Given the description of an element on the screen output the (x, y) to click on. 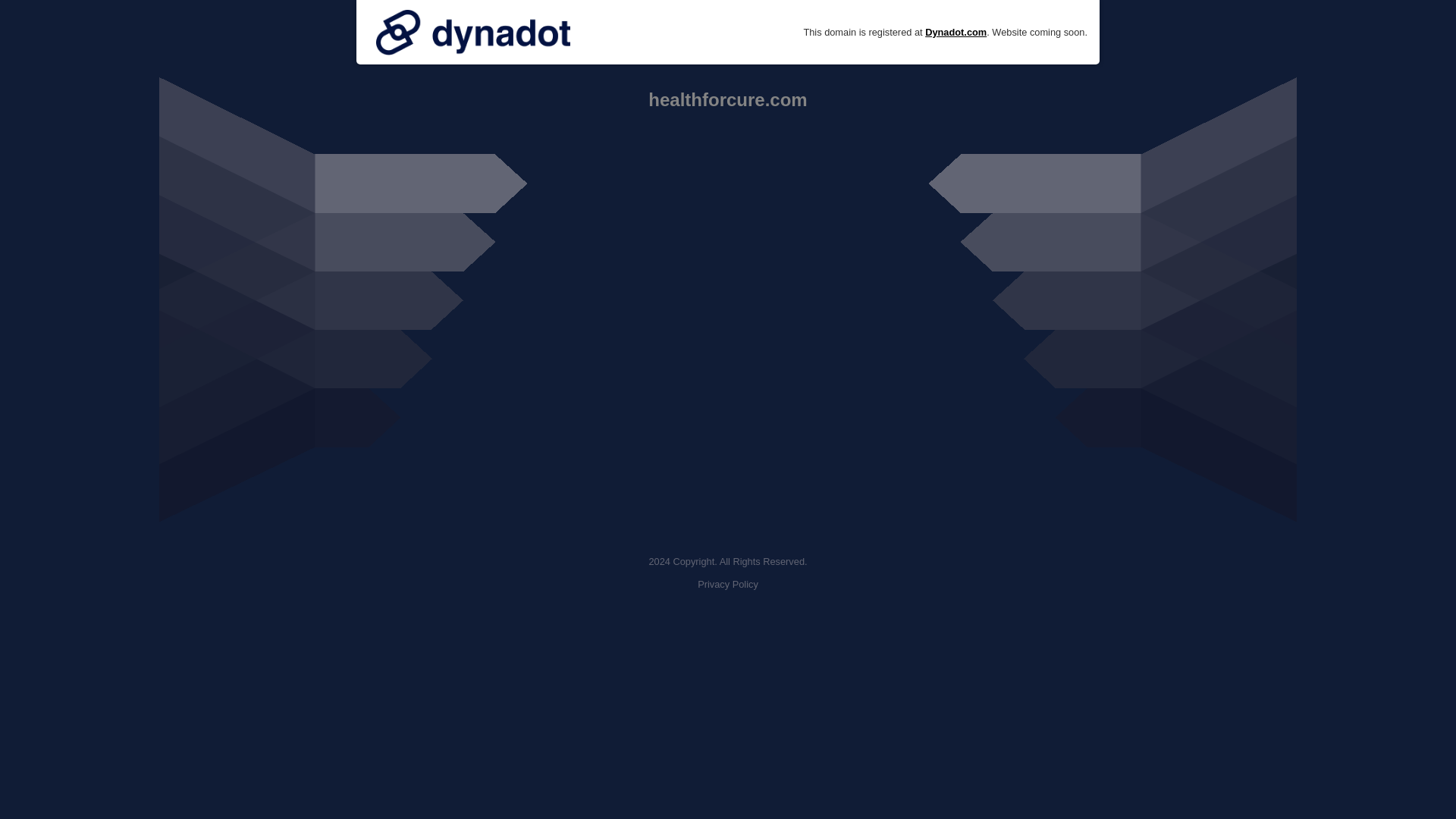
Dynadot.com (955, 31)
Domain managed at Dynadot.com (473, 31)
Privacy Policy (727, 583)
